Given the description of an element on the screen output the (x, y) to click on. 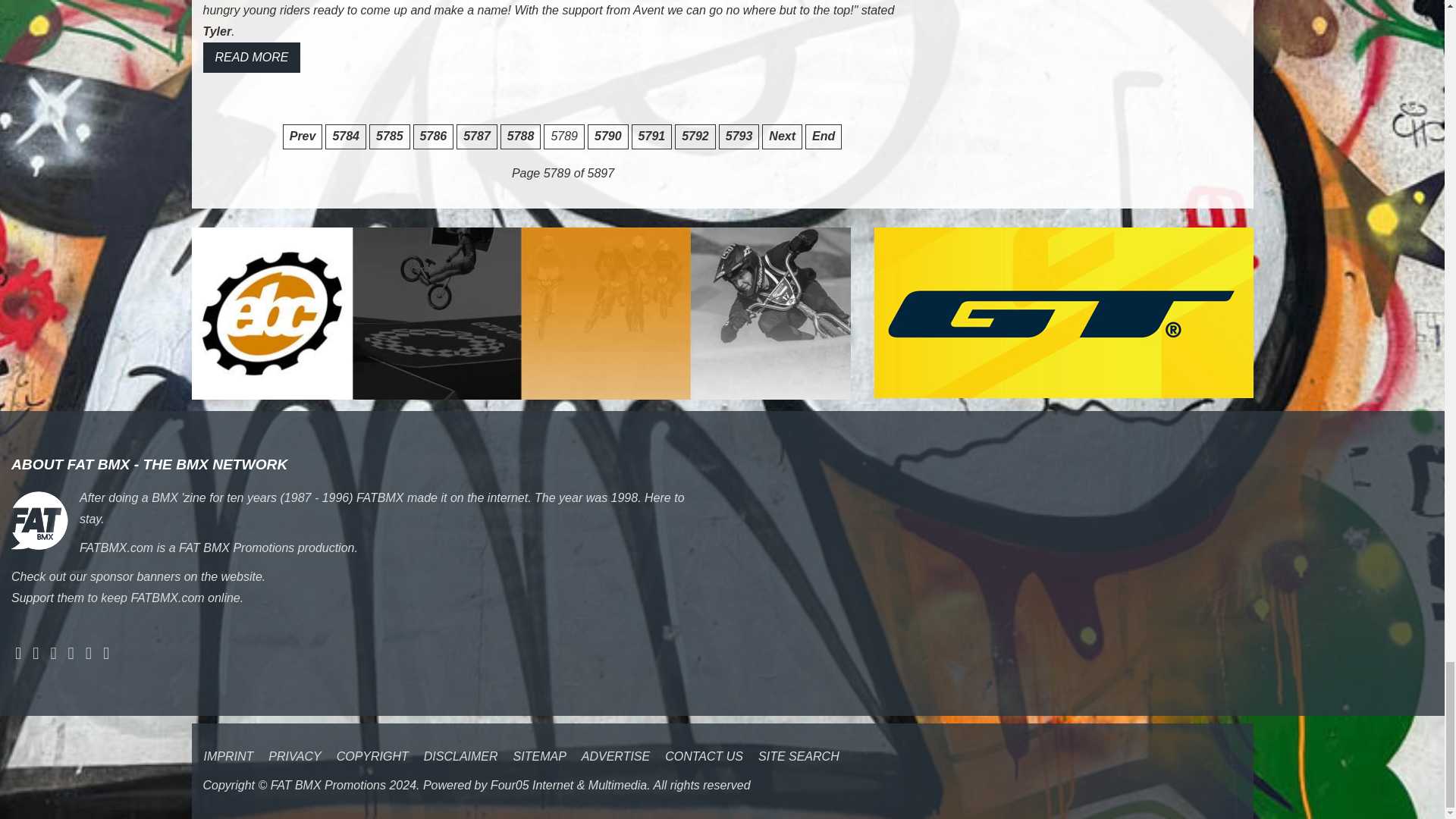
5787 (477, 136)
5788 (520, 136)
5792 (695, 136)
Prev (302, 136)
5785 (389, 136)
5784 (345, 136)
5790 (608, 136)
5791 (651, 136)
5786 (433, 136)
